Given the description of an element on the screen output the (x, y) to click on. 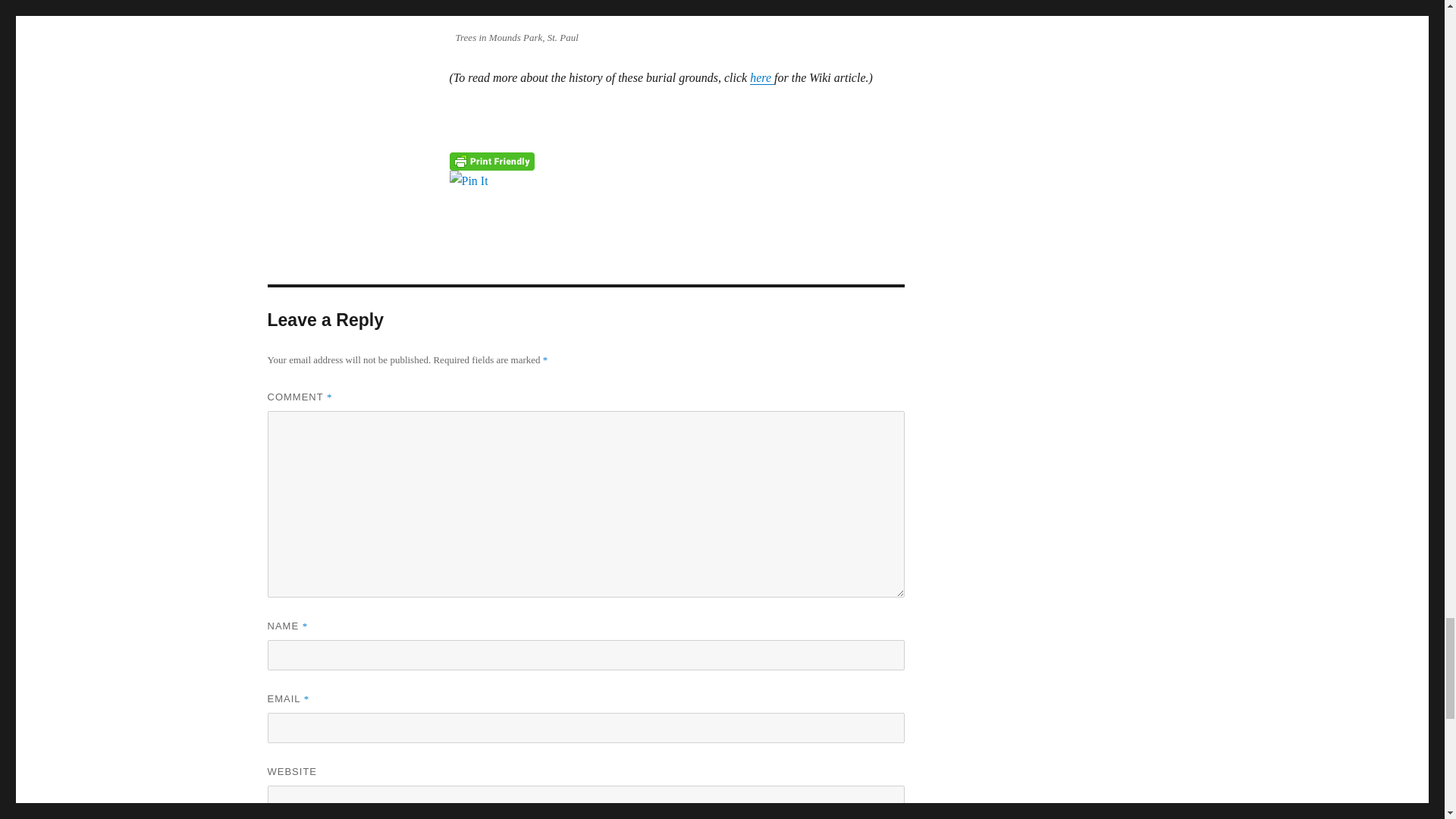
Pin It (676, 180)
here (761, 77)
Trees in Mounds Park (676, 12)
